Given the description of an element on the screen output the (x, y) to click on. 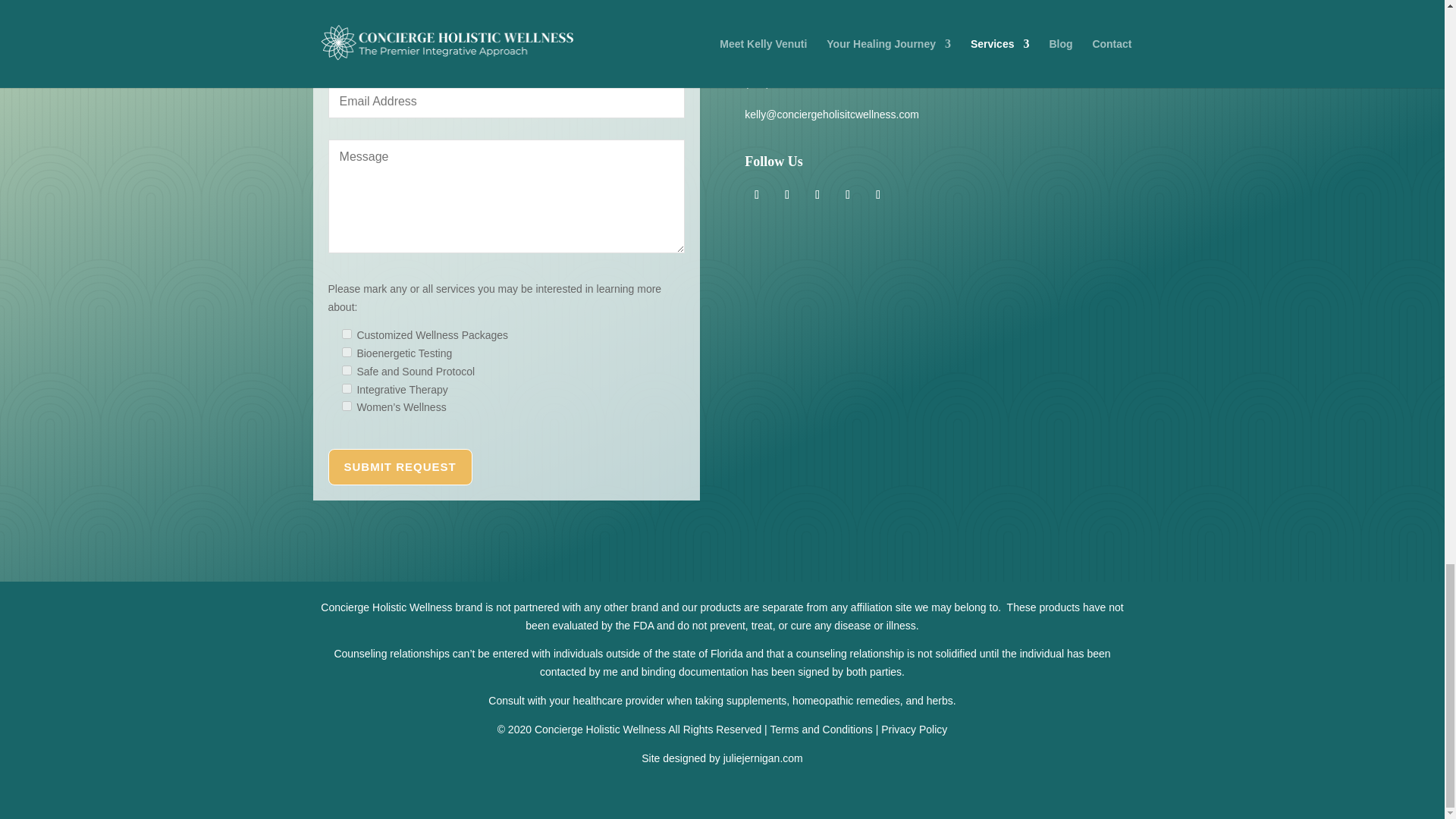
Follow on Pinterest (817, 194)
Follow on LinkedIn (786, 194)
Bioenergetic Testing (345, 352)
Follow on Instagram (756, 194)
Follow on Facebook (847, 194)
Integrative Therapy (345, 388)
SUBMIT REQUEST (399, 466)
Safe and Sound Protocol (345, 370)
Follow on Youtube (877, 194)
Customized Wellness Packages (345, 334)
